Given the description of an element on the screen output the (x, y) to click on. 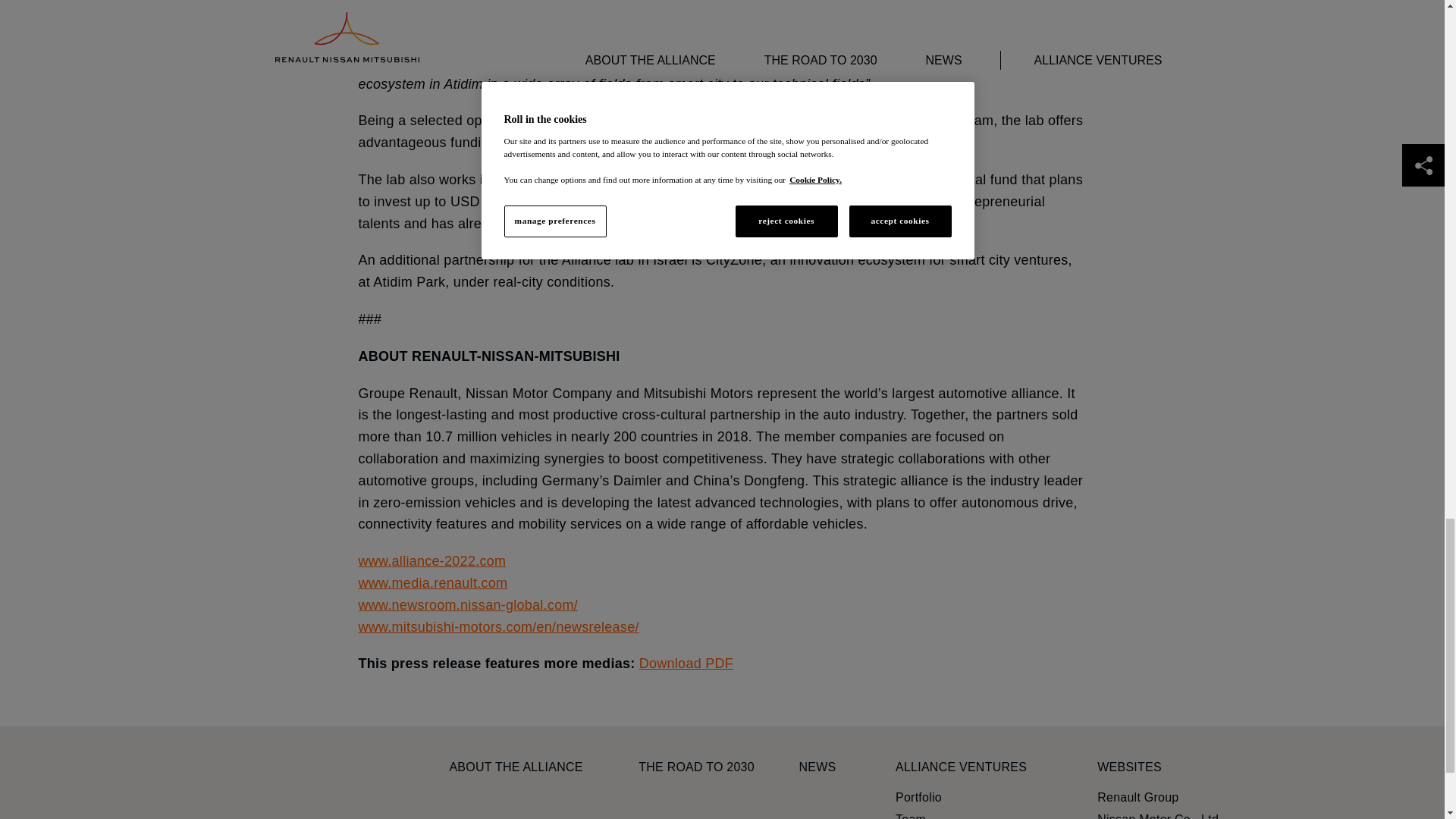
www.media.renault.com (432, 582)
Team (910, 815)
Nissan Motor Co., Ltd. (1159, 815)
ALLIANCE VENTURES (960, 766)
ABOUT THE ALLIANCE (515, 766)
www.alliance-2022.com (431, 560)
Renault Group (1137, 797)
NEWS (816, 766)
Download PDF (686, 663)
Portfolio (918, 797)
